Given the description of an element on the screen output the (x, y) to click on. 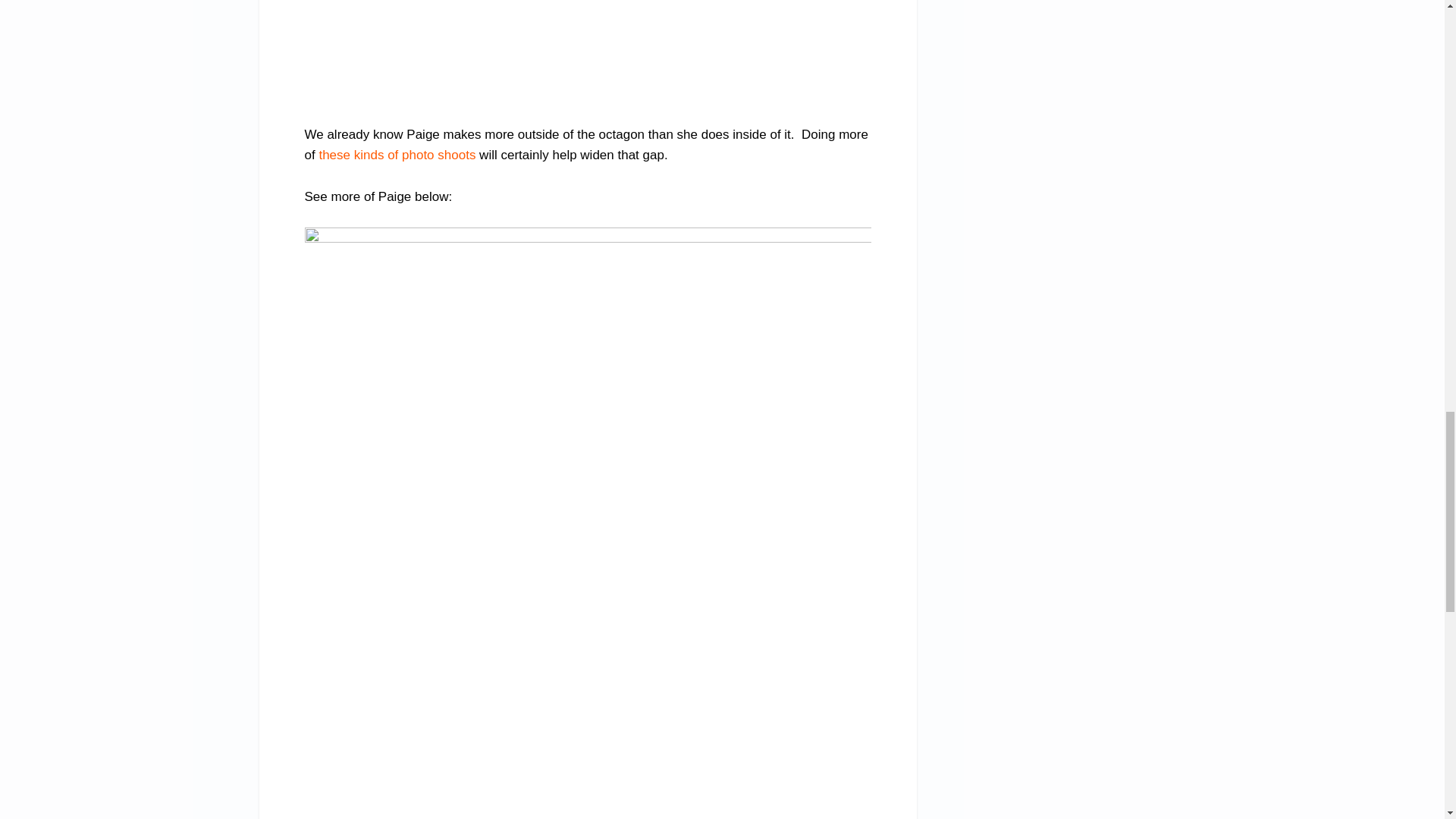
these kinds of photo shoots (397, 155)
